Given the description of an element on the screen output the (x, y) to click on. 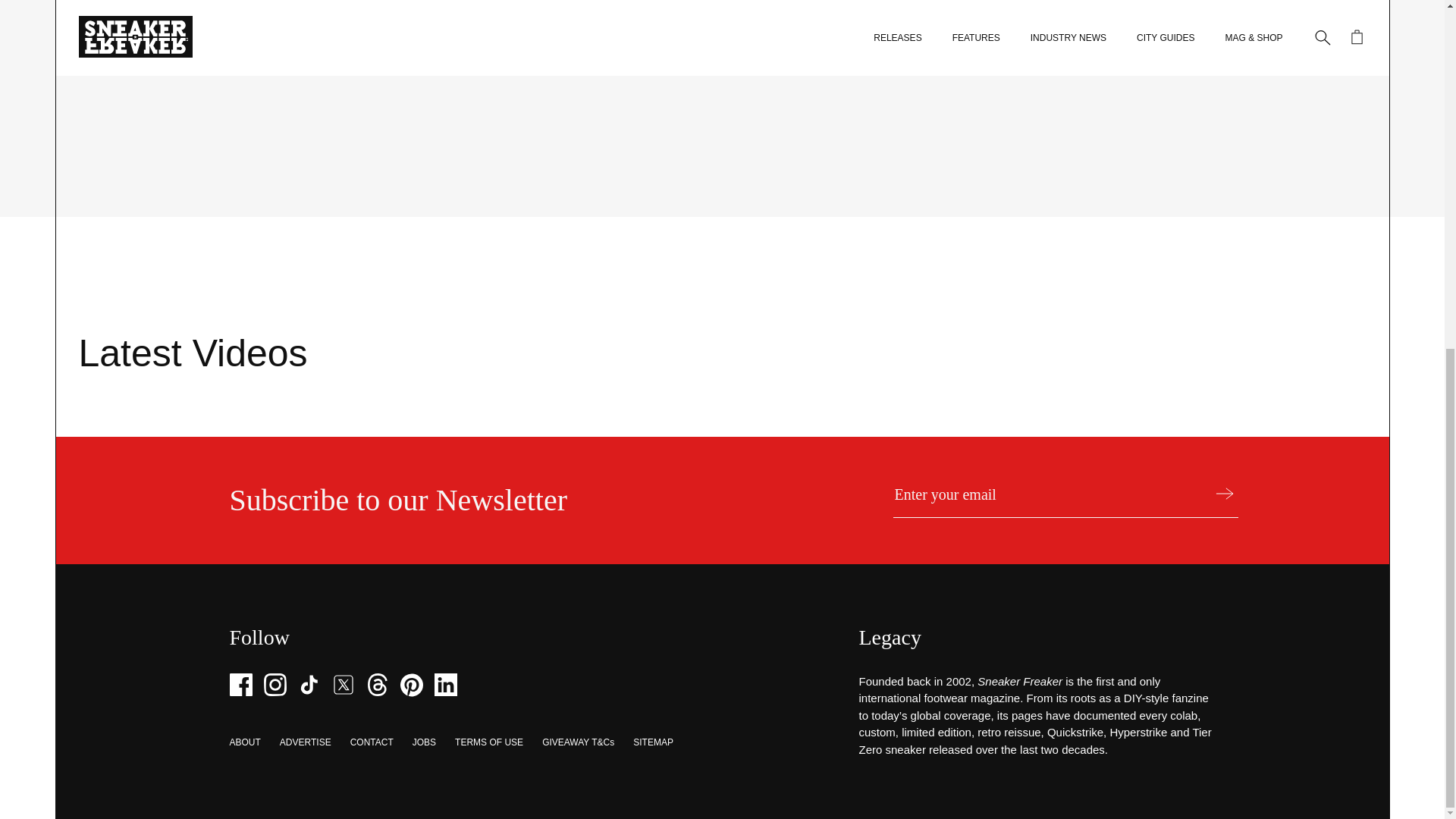
TERMS OF USE (488, 742)
JOBS (423, 742)
SITEMAP (652, 742)
ADVERTISE (305, 742)
CONTACT (371, 742)
ABOUT (244, 742)
